Given the description of an element on the screen output the (x, y) to click on. 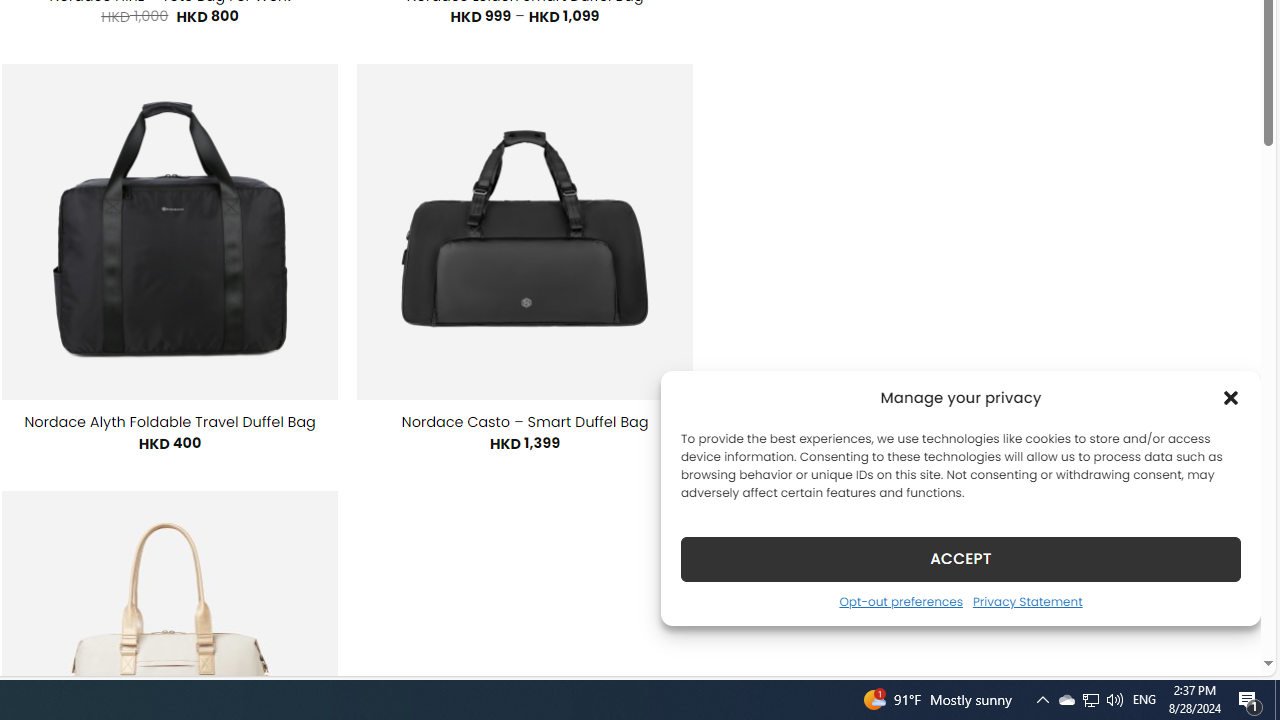
Nordace Alyth Foldable Travel Duffel Bag (170, 422)
Opt-out preferences (900, 601)
ACCEPT (960, 558)
Class: cmplz-close (1231, 397)
Privacy Statement (1026, 601)
